Given the description of an element on the screen output the (x, y) to click on. 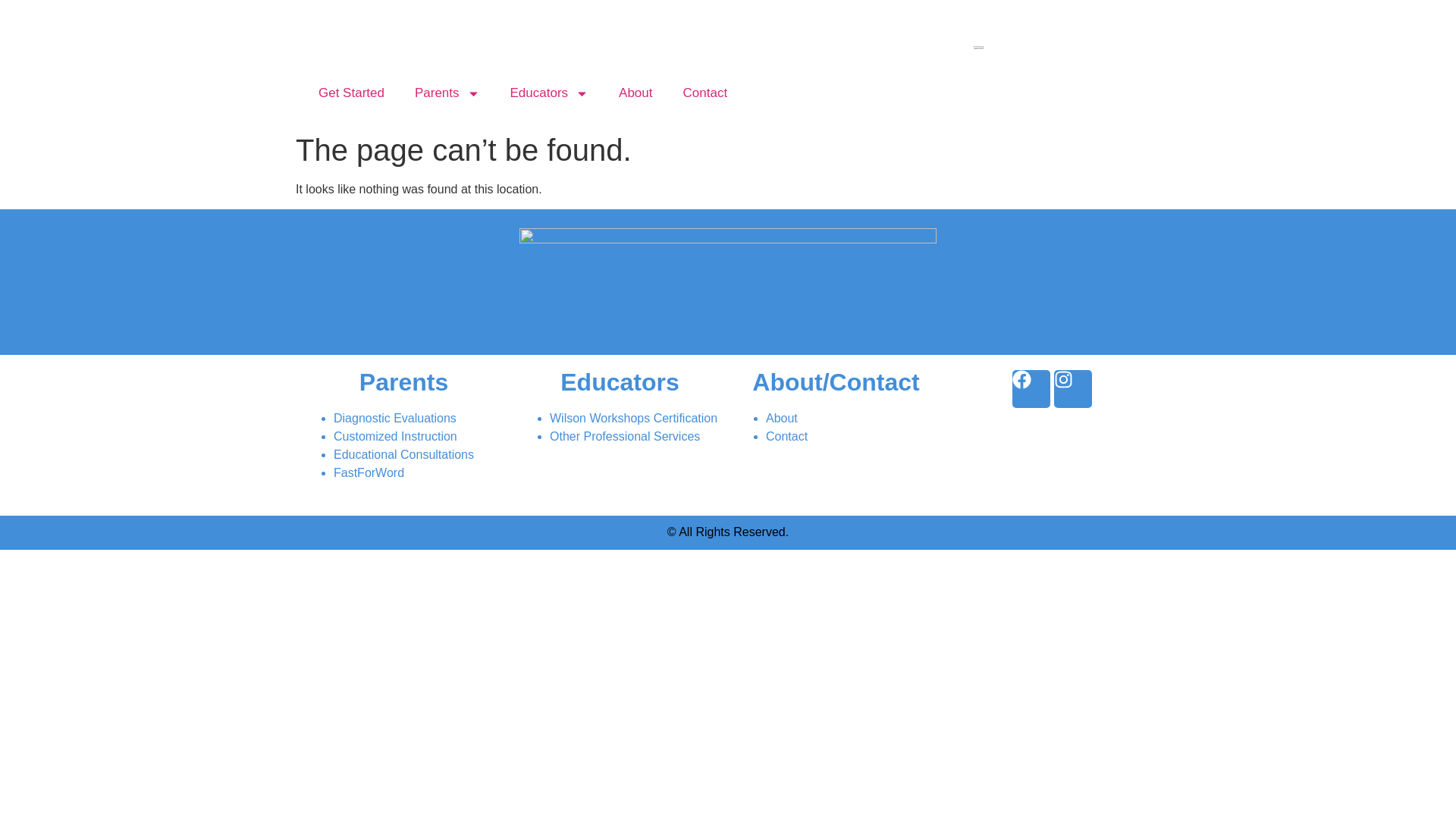
About (635, 93)
Get Started (350, 93)
Educators (549, 93)
Parents (446, 93)
Contact (705, 93)
